Given the description of an element on the screen output the (x, y) to click on. 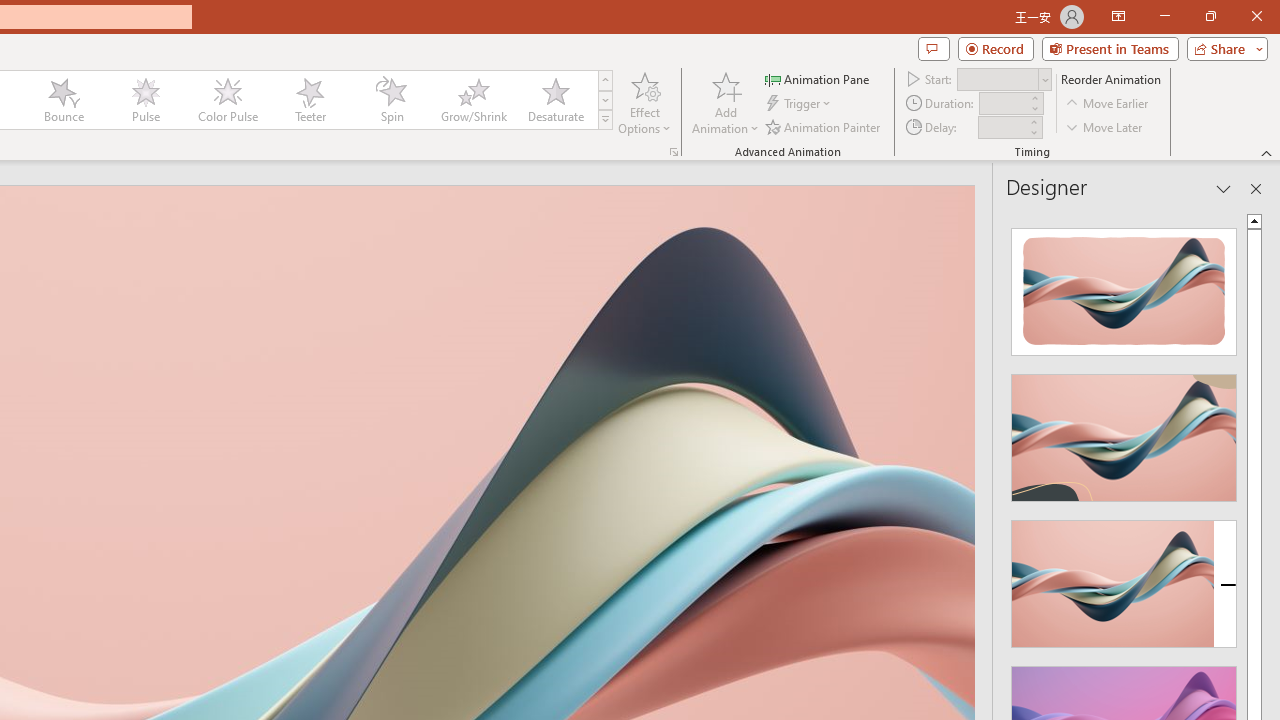
Move Later (1105, 126)
Animation Duration (1003, 103)
More (1033, 121)
Less (1033, 132)
Class: NetUIImage (605, 119)
Close pane (1256, 188)
Present in Teams (1109, 48)
Animation Painter (824, 126)
Color Pulse (227, 100)
Teeter (309, 100)
